Given the description of an element on the screen output the (x, y) to click on. 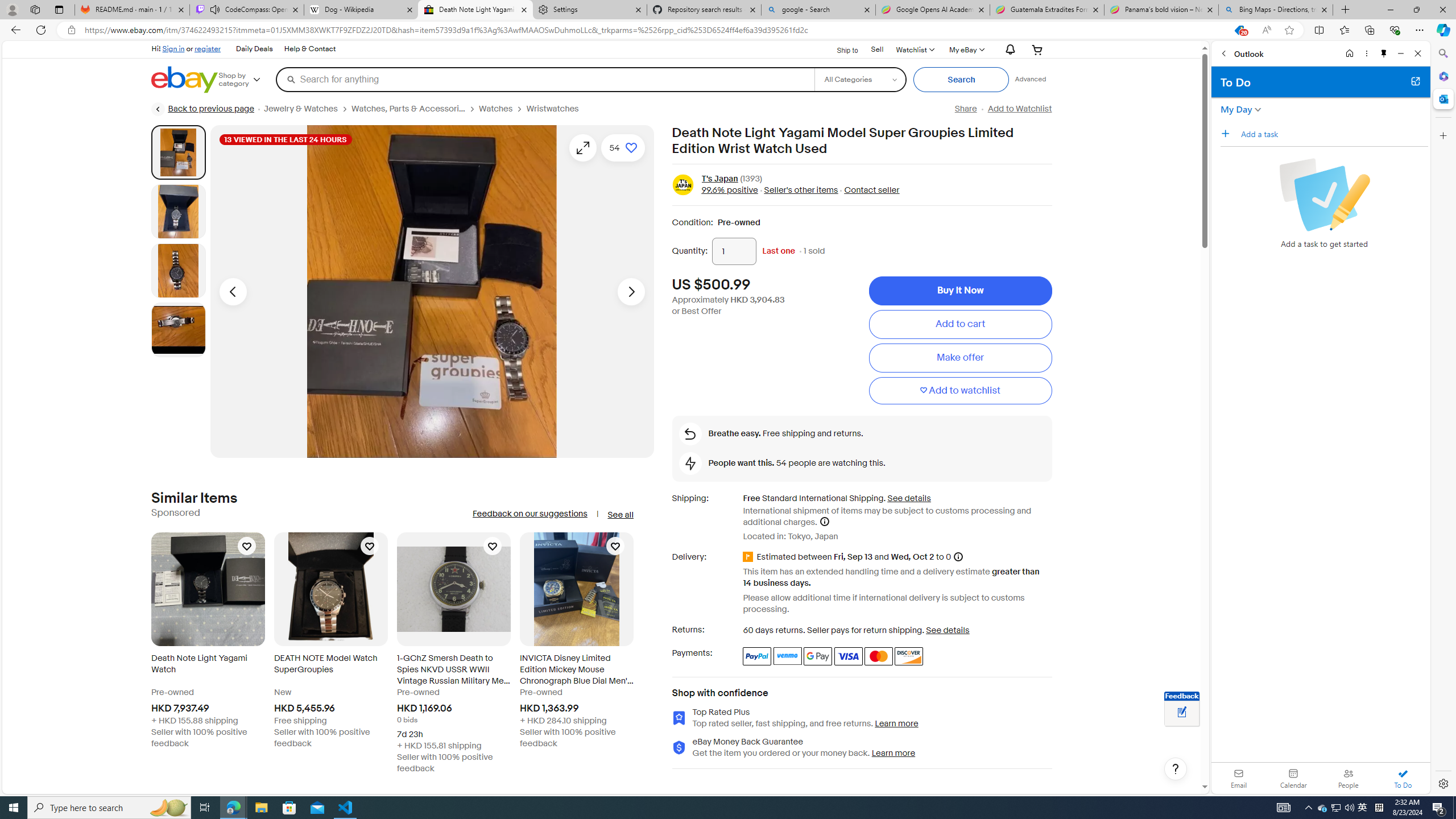
Shop by category (246, 79)
People (1347, 777)
Picture 2 of 4 (178, 211)
99.6% positive (729, 190)
Picture 3 of 4 (178, 270)
  Contact seller (868, 190)
Ship to (839, 48)
Watches (503, 108)
Picture 4 of 4 (178, 329)
